Given the description of an element on the screen output the (x, y) to click on. 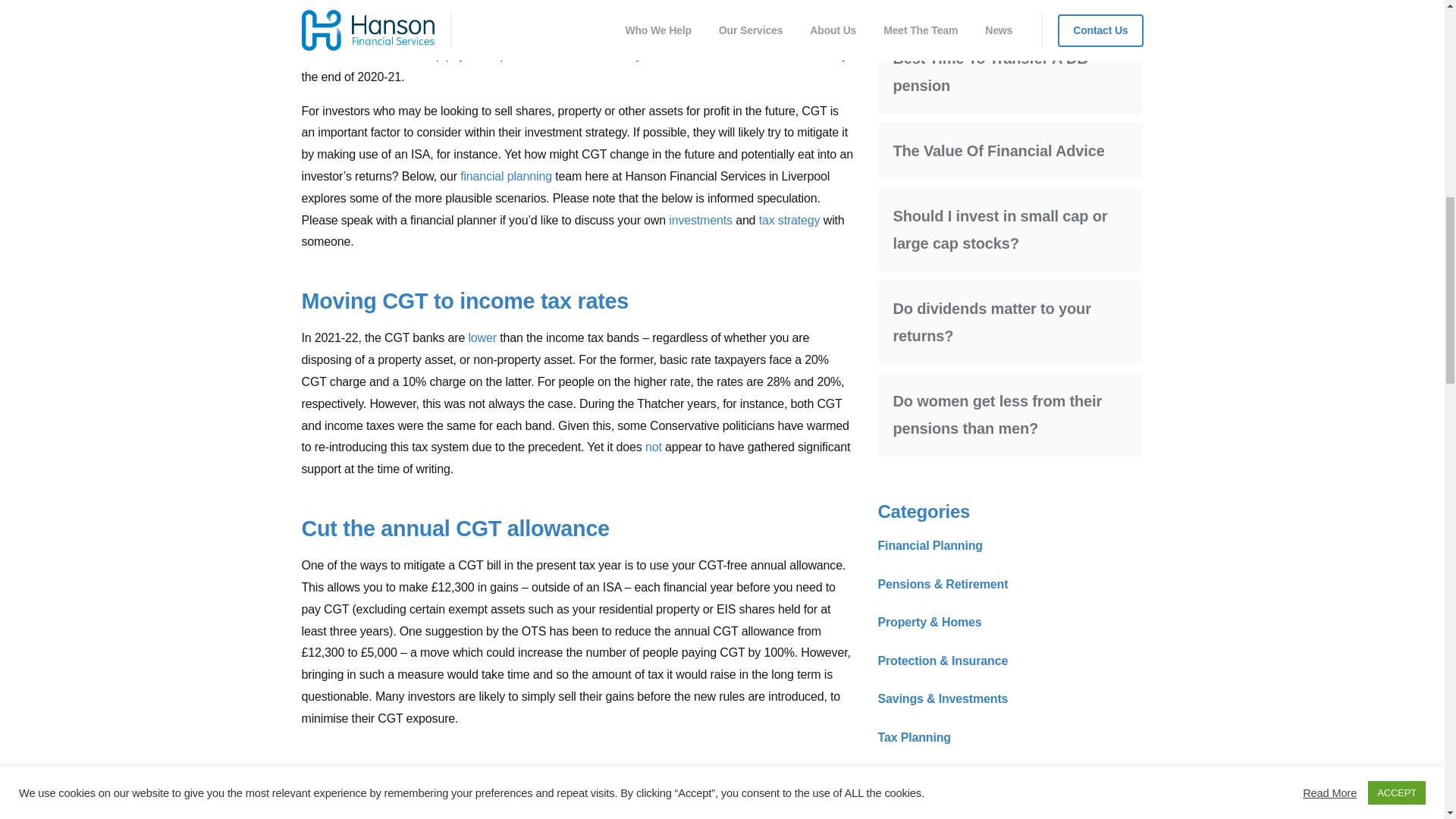
investments (700, 219)
lower (481, 337)
not (653, 446)
financial planning (505, 175)
OTC (595, 10)
tax strategy (789, 219)
Financial Planning (929, 0)
